Given the description of an element on the screen output the (x, y) to click on. 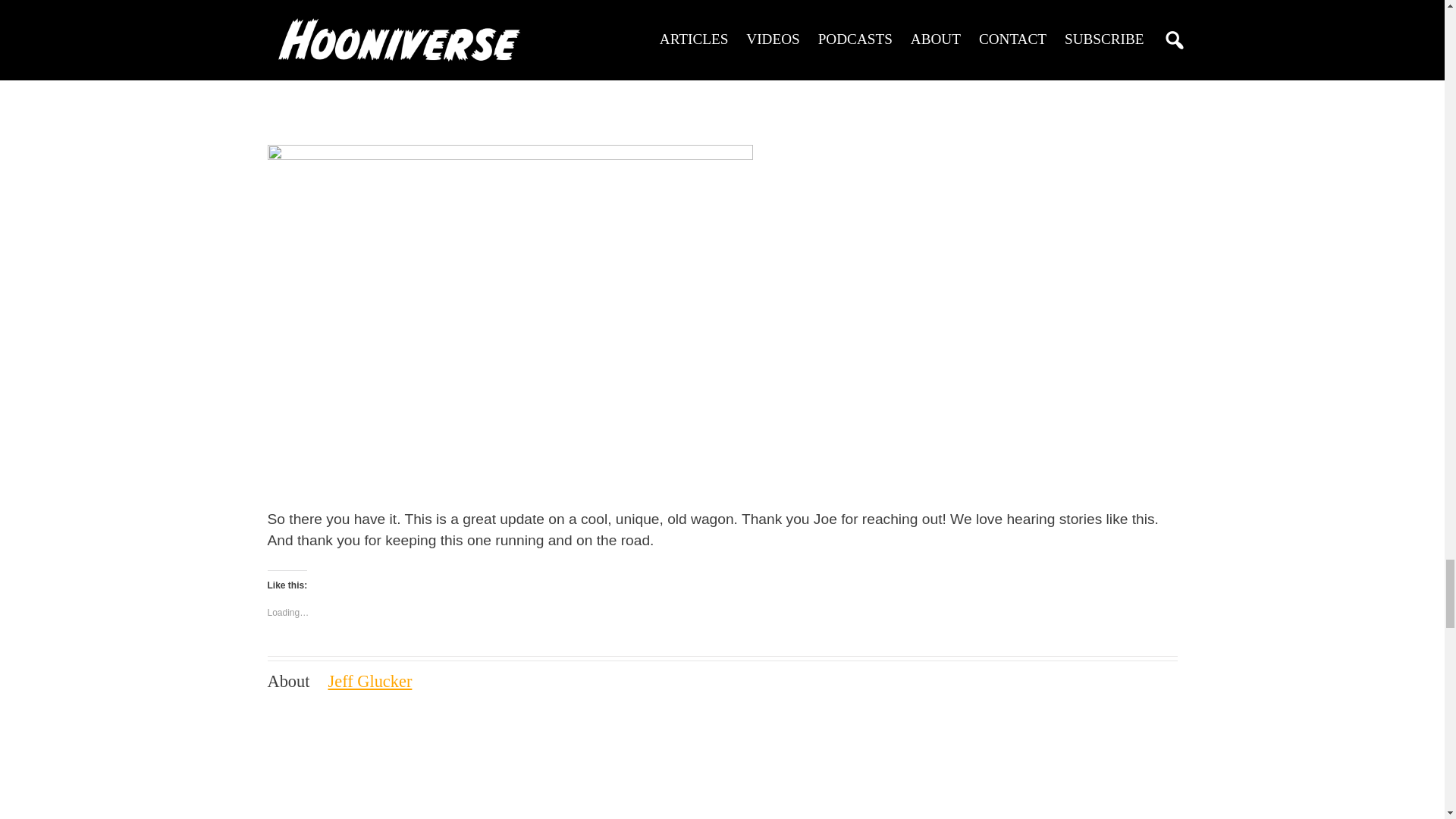
Jeff Glucker (369, 681)
